Given the description of an element on the screen output the (x, y) to click on. 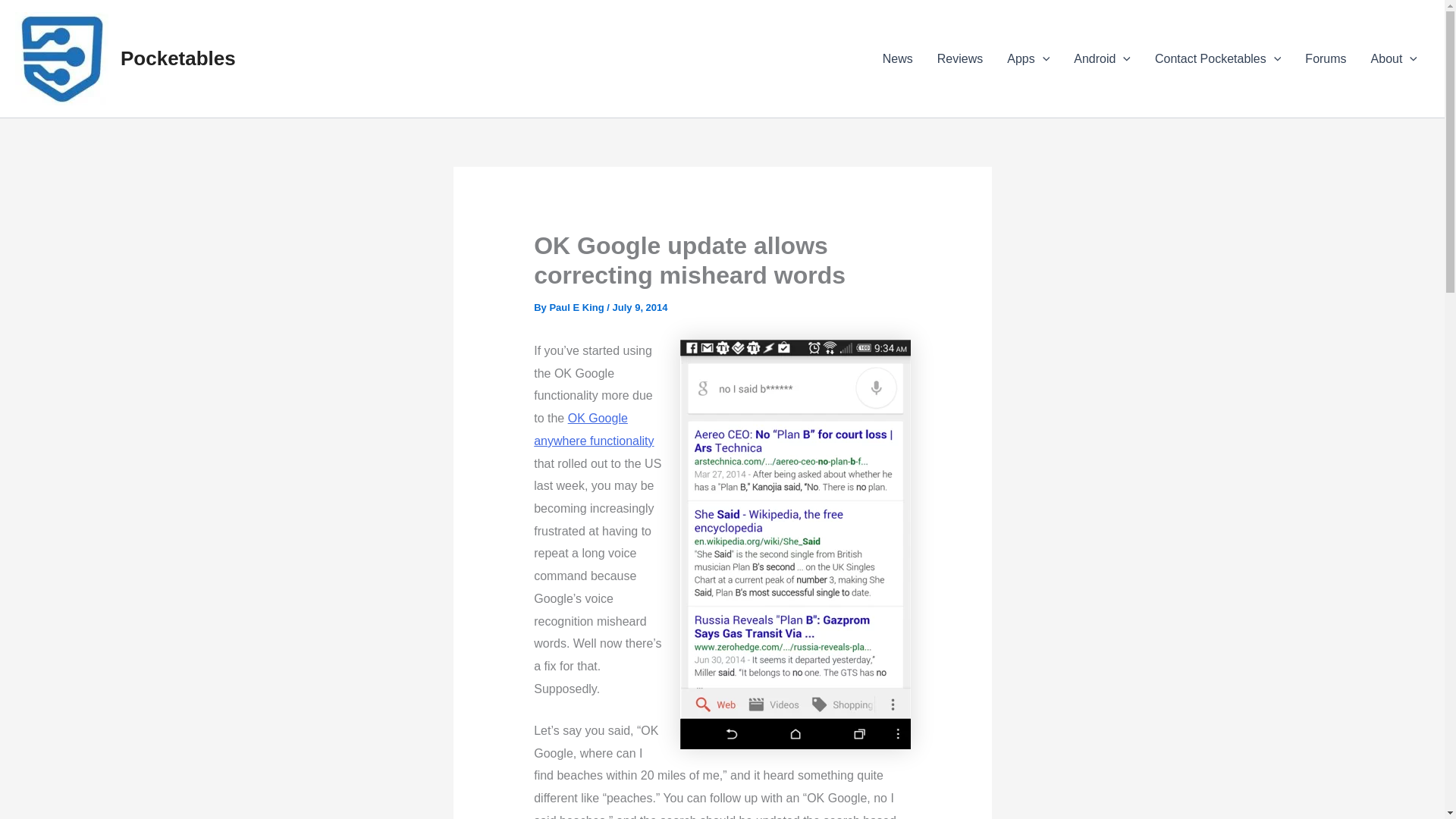
News (897, 58)
Forums (1325, 58)
Contact Pocketables (1217, 58)
Pocketables (177, 57)
Android (1101, 58)
OK Google anywhere rolling out now (593, 429)
Apps (1027, 58)
About (1393, 58)
Reviews (959, 58)
View all posts by Paul E King (576, 307)
